Given the description of an element on the screen output the (x, y) to click on. 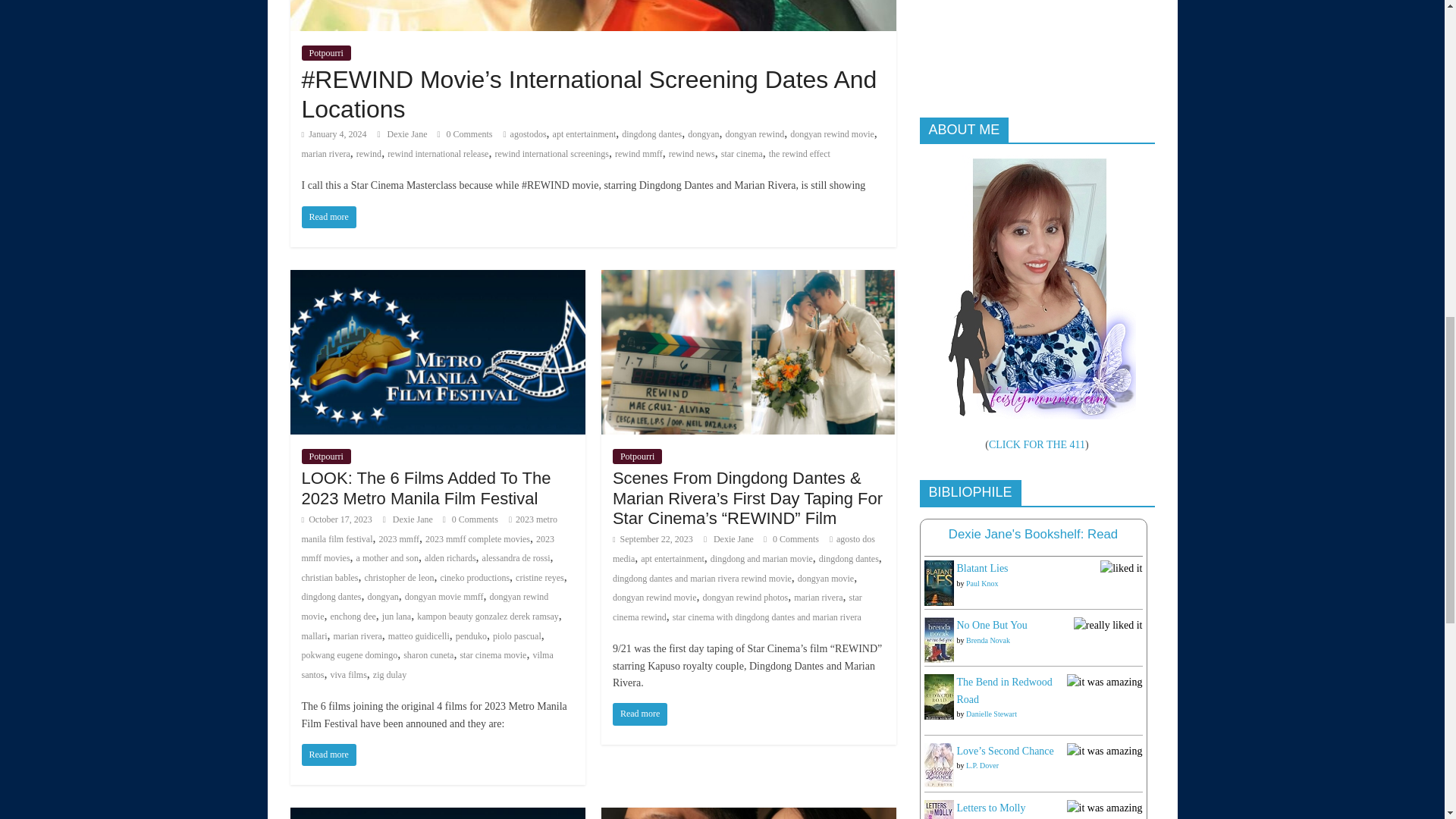
agostodos (529, 133)
Potpourri (325, 52)
dongyan rewind movie (832, 133)
Dexie Jane (414, 519)
7:11 am (333, 133)
dongyan rewind (754, 133)
Dexie Jane (408, 133)
marian rivera (325, 153)
dongyan (703, 133)
rewind news (691, 153)
